Given the description of an element on the screen output the (x, y) to click on. 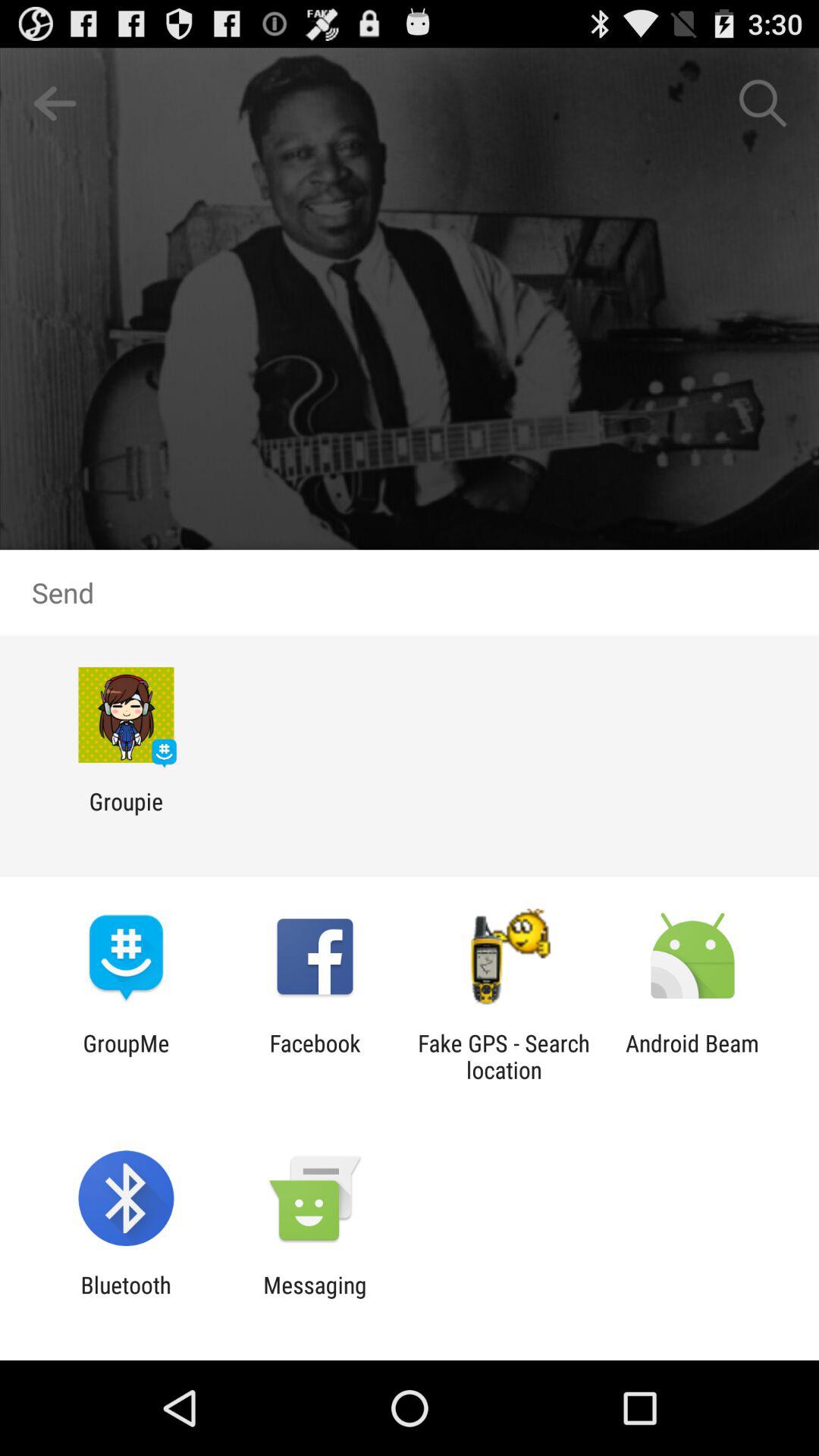
scroll to the messaging item (314, 1298)
